Given the description of an element on the screen output the (x, y) to click on. 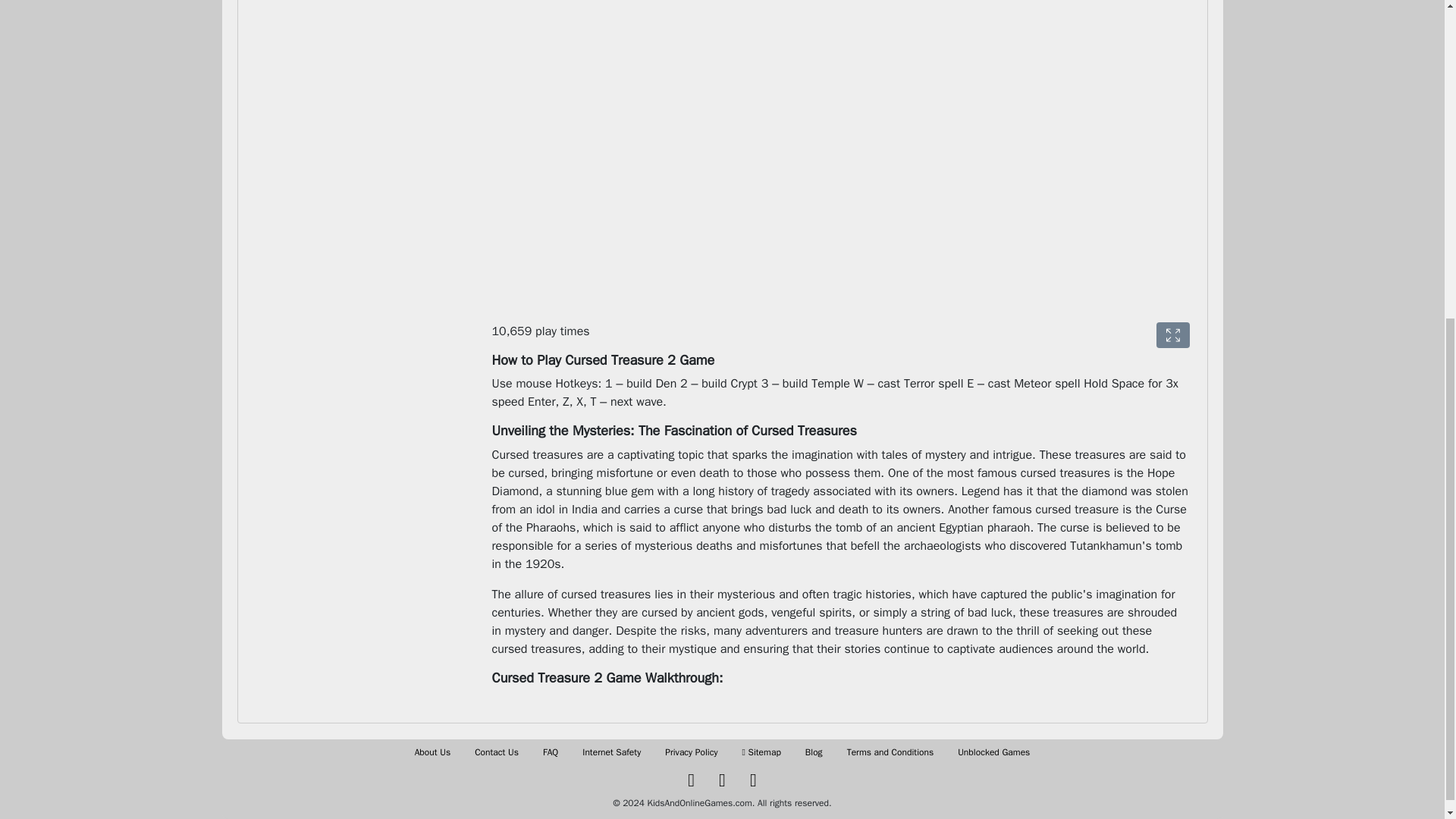
Blog (813, 752)
Internet Safety (611, 752)
Fullscreen (1172, 335)
Terms and Conditions (890, 752)
Unblocked Games (993, 752)
FAQ (550, 752)
Contact Us (496, 752)
Privacy Policy (691, 752)
About Us (431, 752)
Sitemap (760, 752)
